Given the description of an element on the screen output the (x, y) to click on. 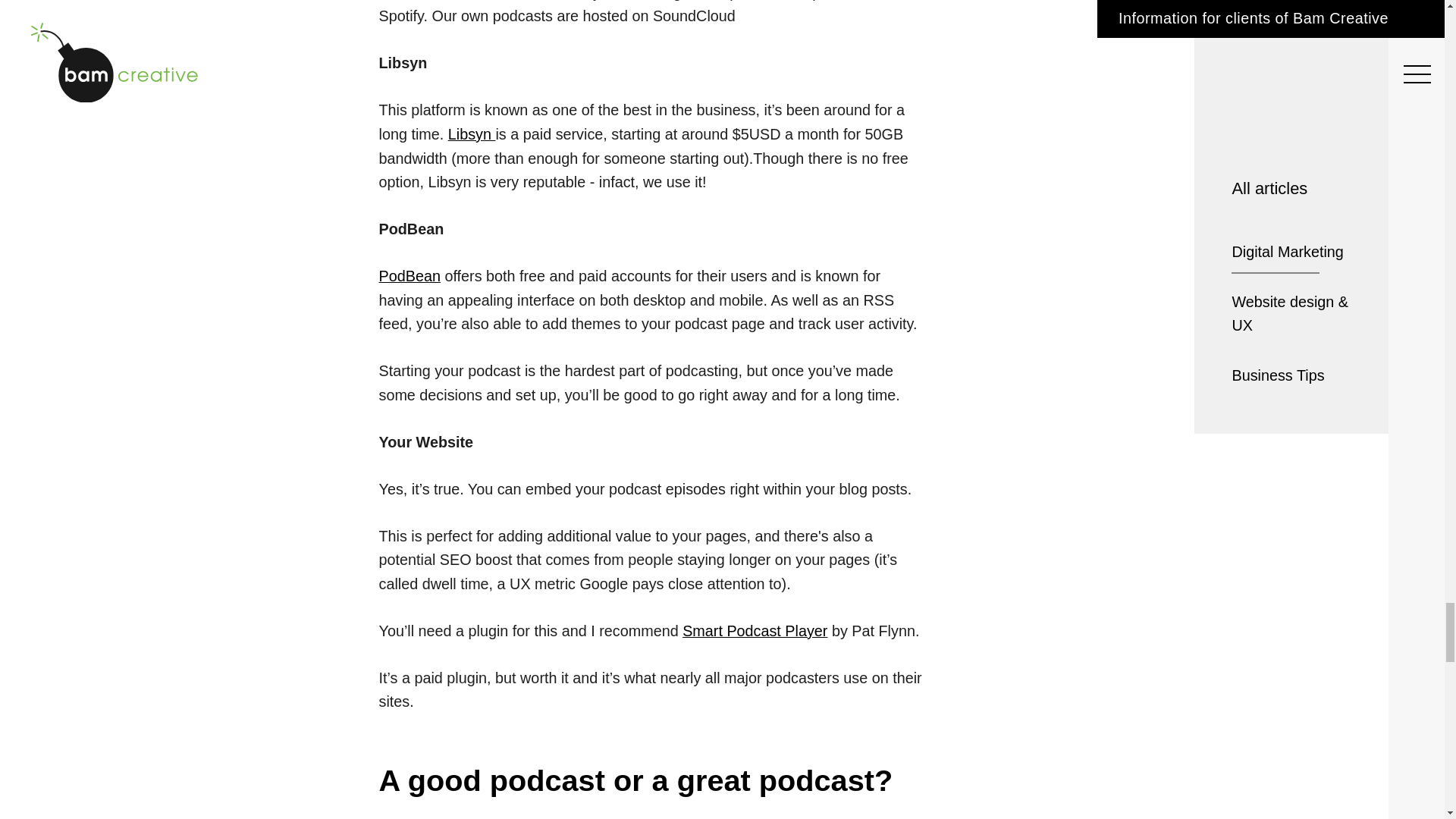
Smart Podcast Player (754, 630)
PodBean (409, 275)
Libsyn (472, 134)
